Given the description of an element on the screen output the (x, y) to click on. 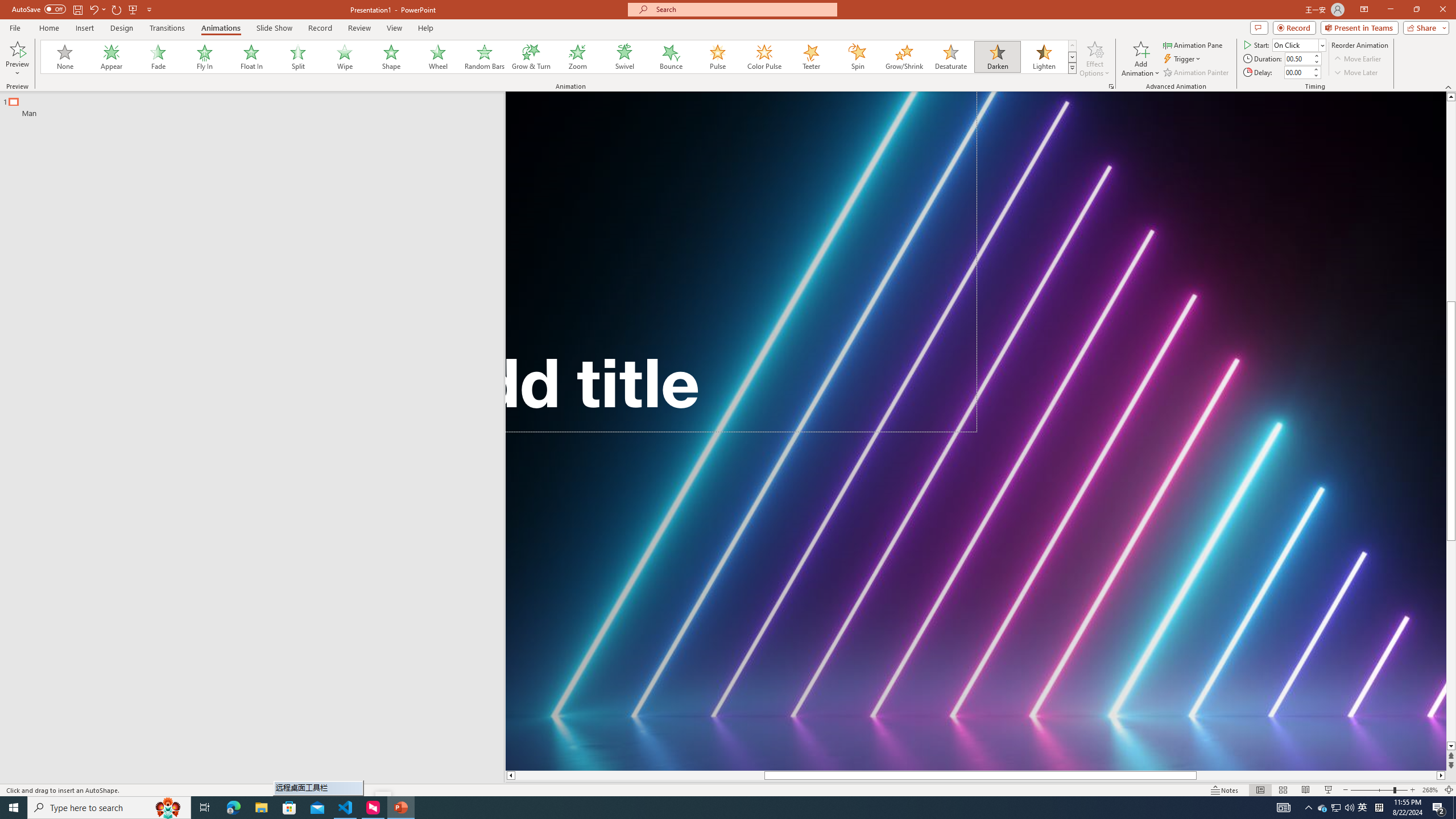
Lighten (1043, 56)
Outline (256, 104)
Spin (857, 56)
Split (298, 56)
